Given the description of an element on the screen output the (x, y) to click on. 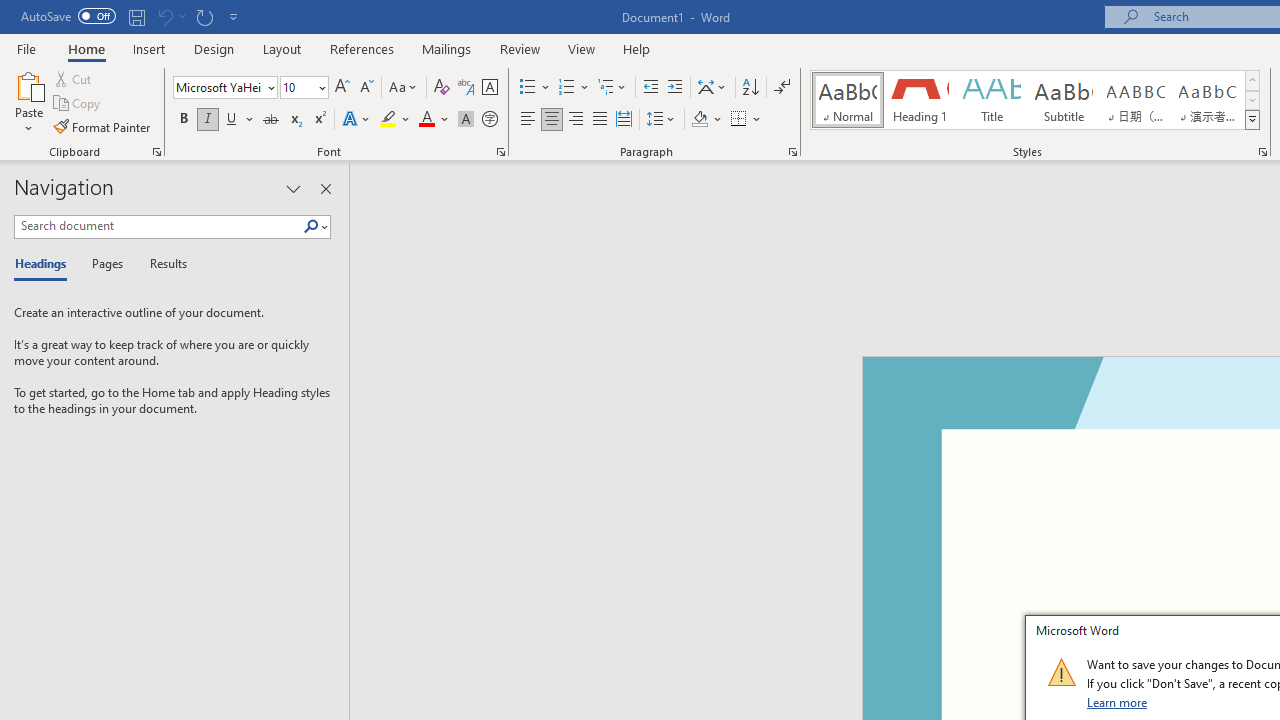
Show/Hide Editing Marks (781, 87)
Italic (207, 119)
Text Highlight Color (395, 119)
Can't Undo (170, 15)
Cut (73, 78)
Decrease Indent (650, 87)
Repeat Italic (204, 15)
Line and Paragraph Spacing (661, 119)
Grow Font (342, 87)
Increase Indent (675, 87)
Format Painter (103, 126)
